Given the description of an element on the screen output the (x, y) to click on. 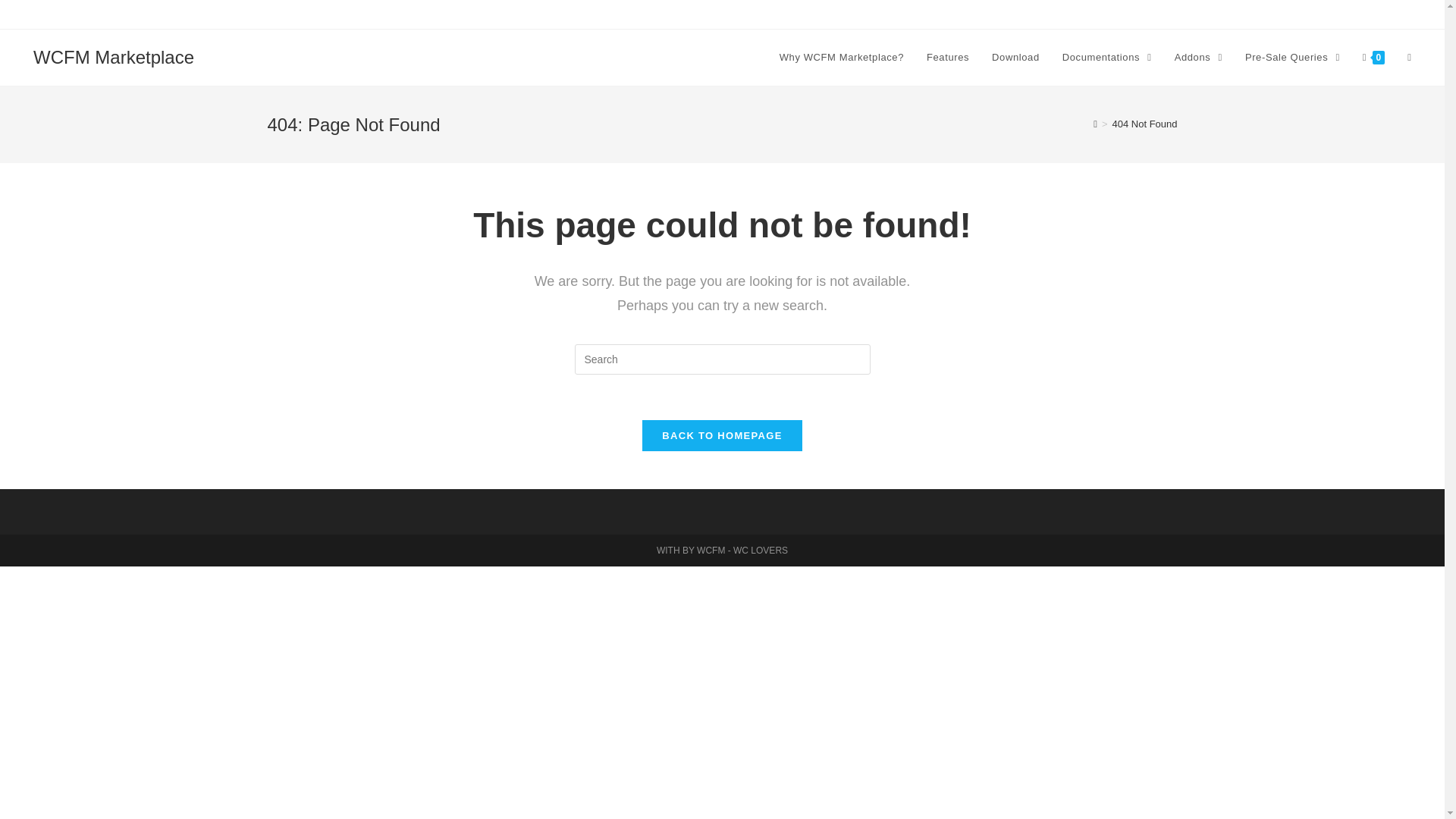
Why WCFM Marketplace? (841, 57)
Addons (1198, 57)
Documentations (1107, 57)
Pre-Sale Queries (1292, 57)
WCFM Marketplace (113, 56)
My account (1406, 13)
Download (1015, 57)
Become a Vendor (1334, 13)
Store Manager (1257, 13)
Features (947, 57)
